Given the description of an element on the screen output the (x, y) to click on. 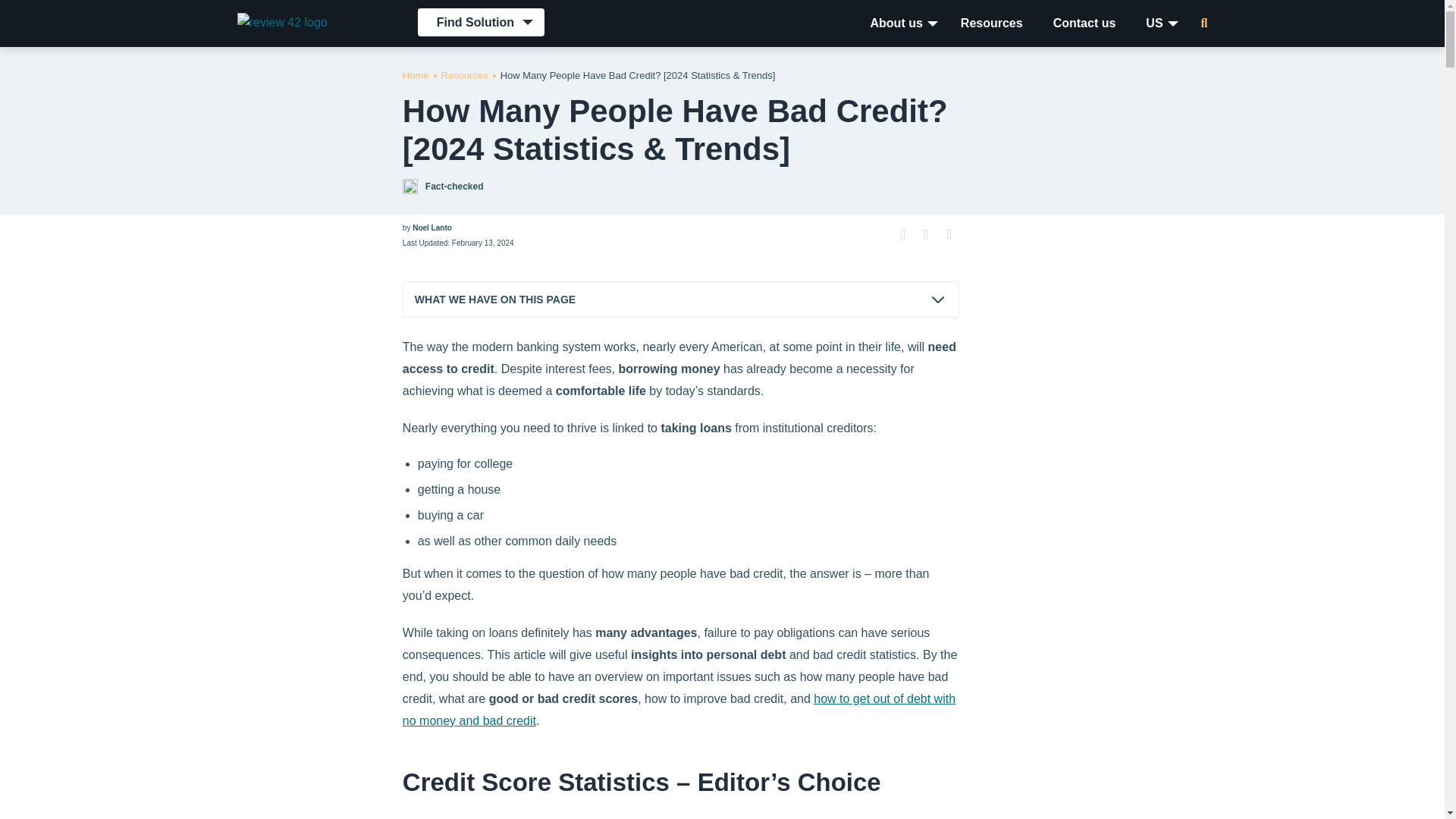
Noel Lanto (431, 227)
Resources (464, 75)
Contact us (1084, 23)
About us (896, 23)
Home (416, 75)
US (1154, 23)
Resources (991, 23)
